Given the description of an element on the screen output the (x, y) to click on. 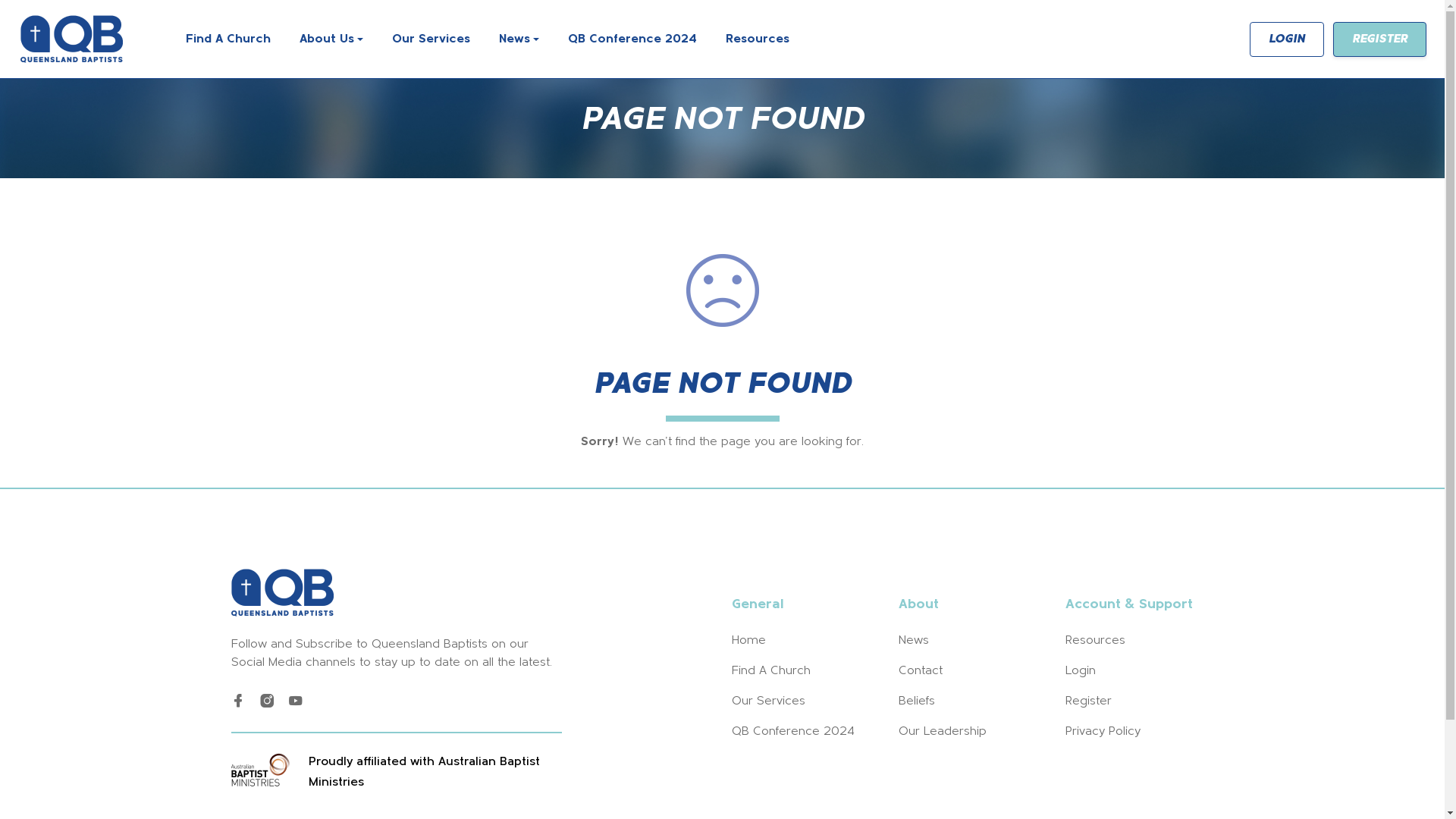
News Element type: text (912, 640)
About Us Element type: text (331, 39)
Privacy Policy Element type: text (1101, 731)
Register Element type: text (1087, 701)
QB Conference 2024 Element type: text (632, 39)
Find A Church Element type: text (228, 39)
Find A Church Element type: text (770, 671)
Resources Element type: text (757, 39)
Our Services Element type: text (430, 39)
Home Element type: text (748, 640)
Beliefs Element type: text (915, 701)
REGISTER Element type: text (1379, 38)
Our Leadership Element type: text (941, 731)
News Element type: text (518, 39)
LOGIN Element type: text (1286, 38)
Resources Element type: text (1094, 640)
QB Conference 2024 Element type: text (792, 731)
Our Services Element type: text (767, 701)
Contact Element type: text (919, 671)
Login Element type: text (1079, 671)
